Given the description of an element on the screen output the (x, y) to click on. 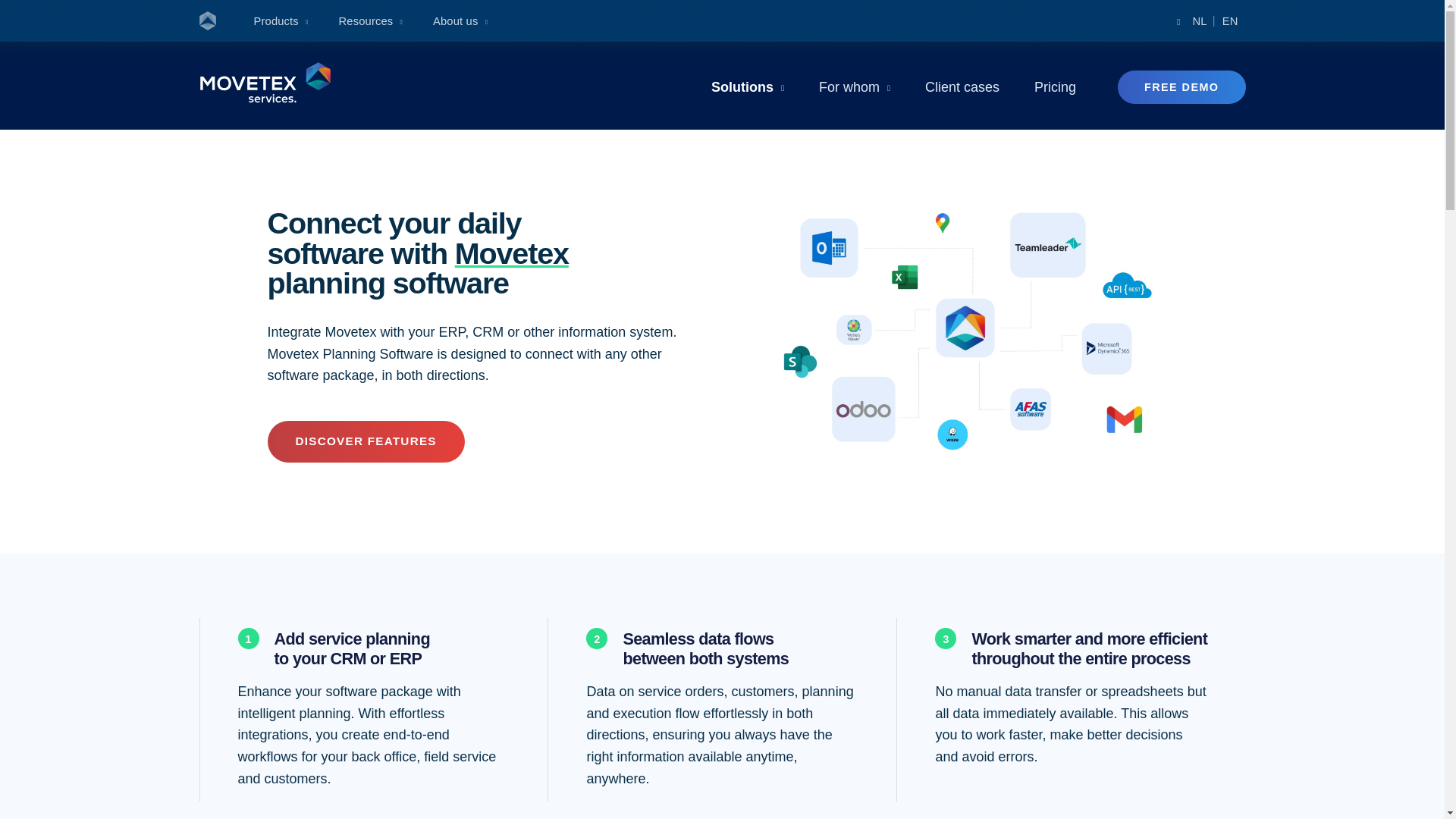
Resources (371, 22)
EN (1230, 22)
FREE DEMO (1182, 87)
About us (459, 22)
Client cases (961, 87)
Solutions (747, 87)
Products (280, 22)
Pricing (1054, 87)
NL (1199, 22)
For whom (853, 87)
